Given the description of an element on the screen output the (x, y) to click on. 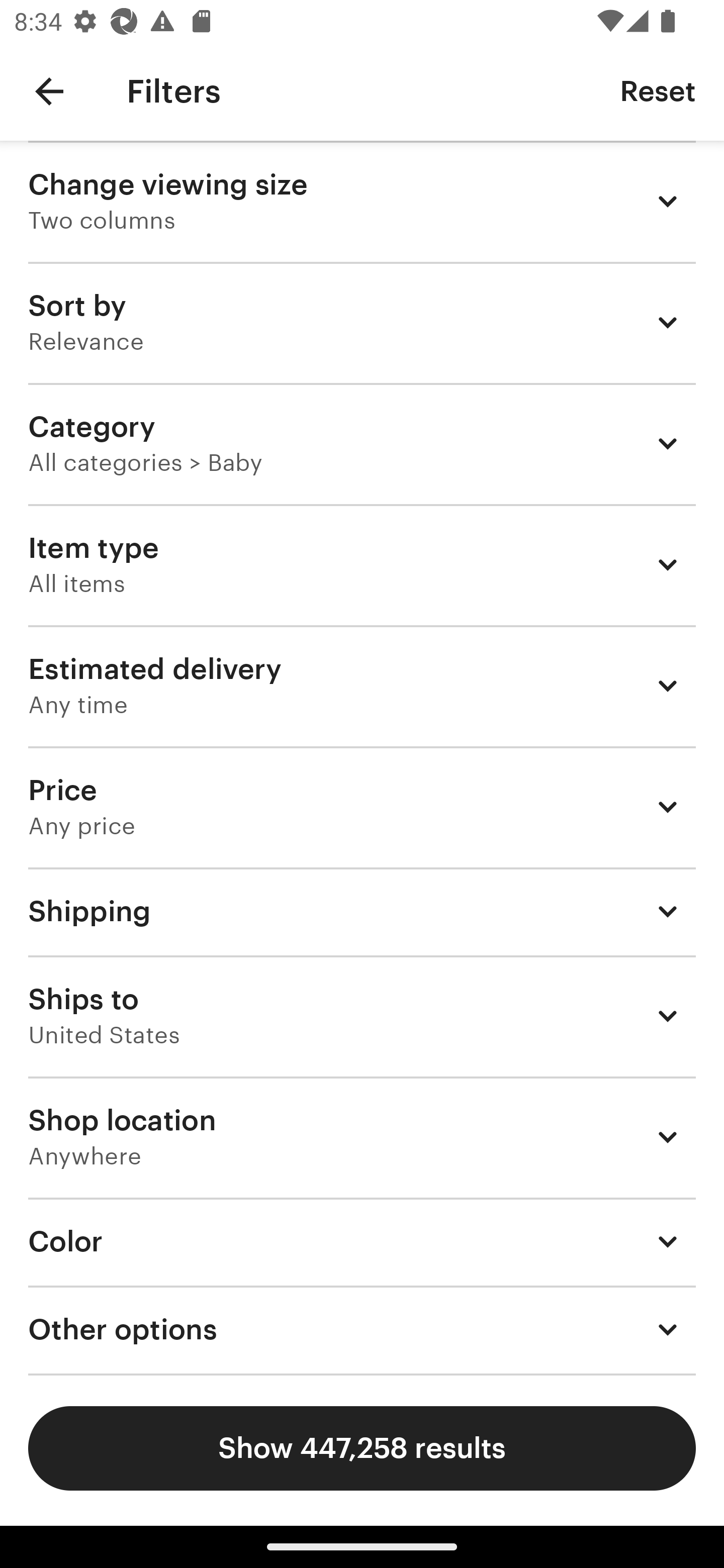
Navigate up (49, 91)
Reset (657, 90)
Change viewing size Two columns (362, 201)
Sort by Relevance (362, 321)
Category All categories > Baby (362, 442)
Item type All items (362, 564)
Estimated delivery Any time (362, 685)
Price Any price (362, 806)
Shipping (362, 910)
Ships to United States (362, 1015)
Shop location Anywhere (362, 1137)
Color (362, 1241)
Other options (362, 1329)
Show 447,258 results Show results (361, 1448)
